Given the description of an element on the screen output the (x, y) to click on. 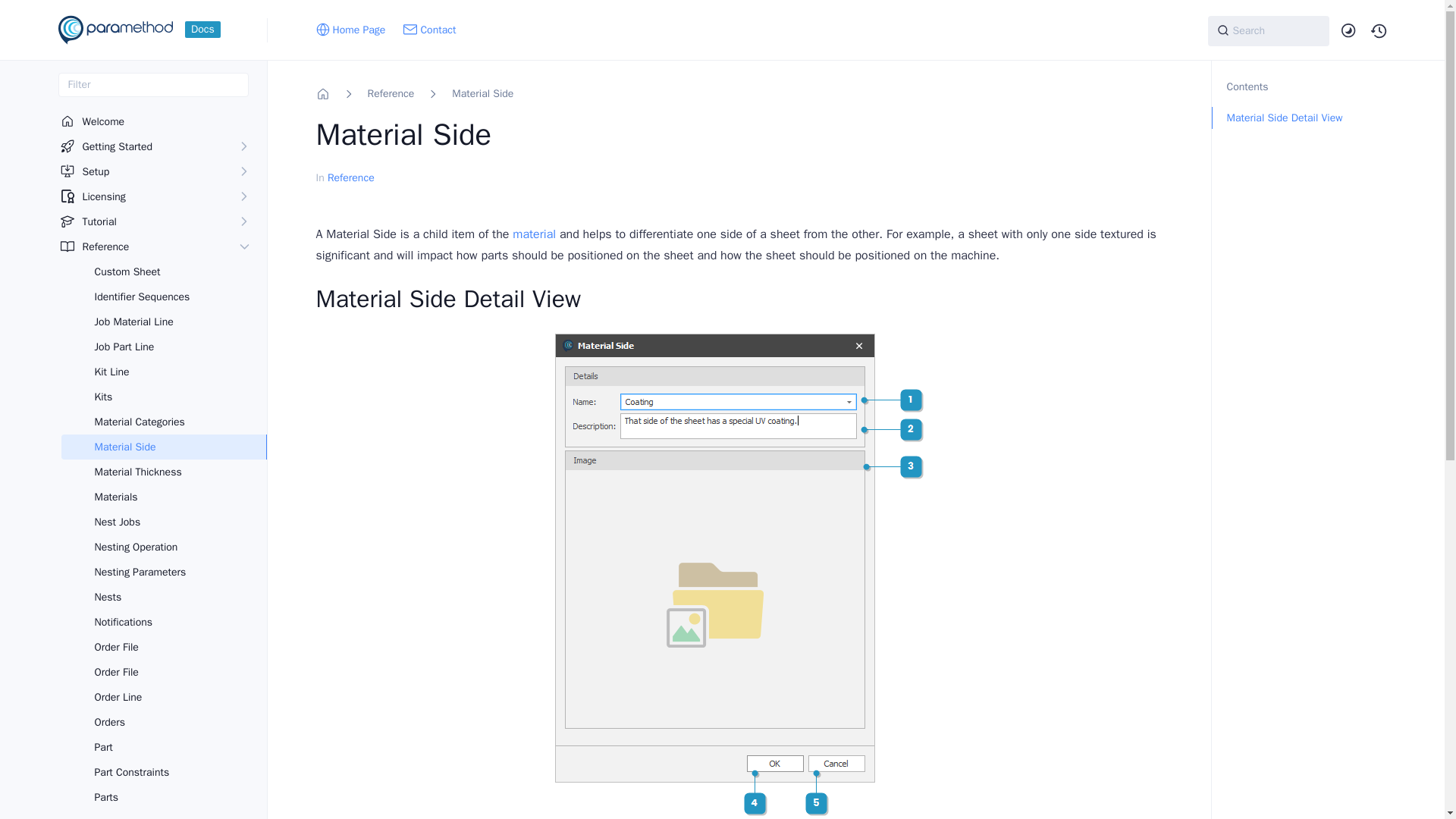
Tutorial (145, 221)
Welcome (155, 121)
Setup (145, 171)
Getting Started (145, 146)
Licensing (145, 196)
Home Page (350, 29)
Contact (429, 29)
